Given the description of an element on the screen output the (x, y) to click on. 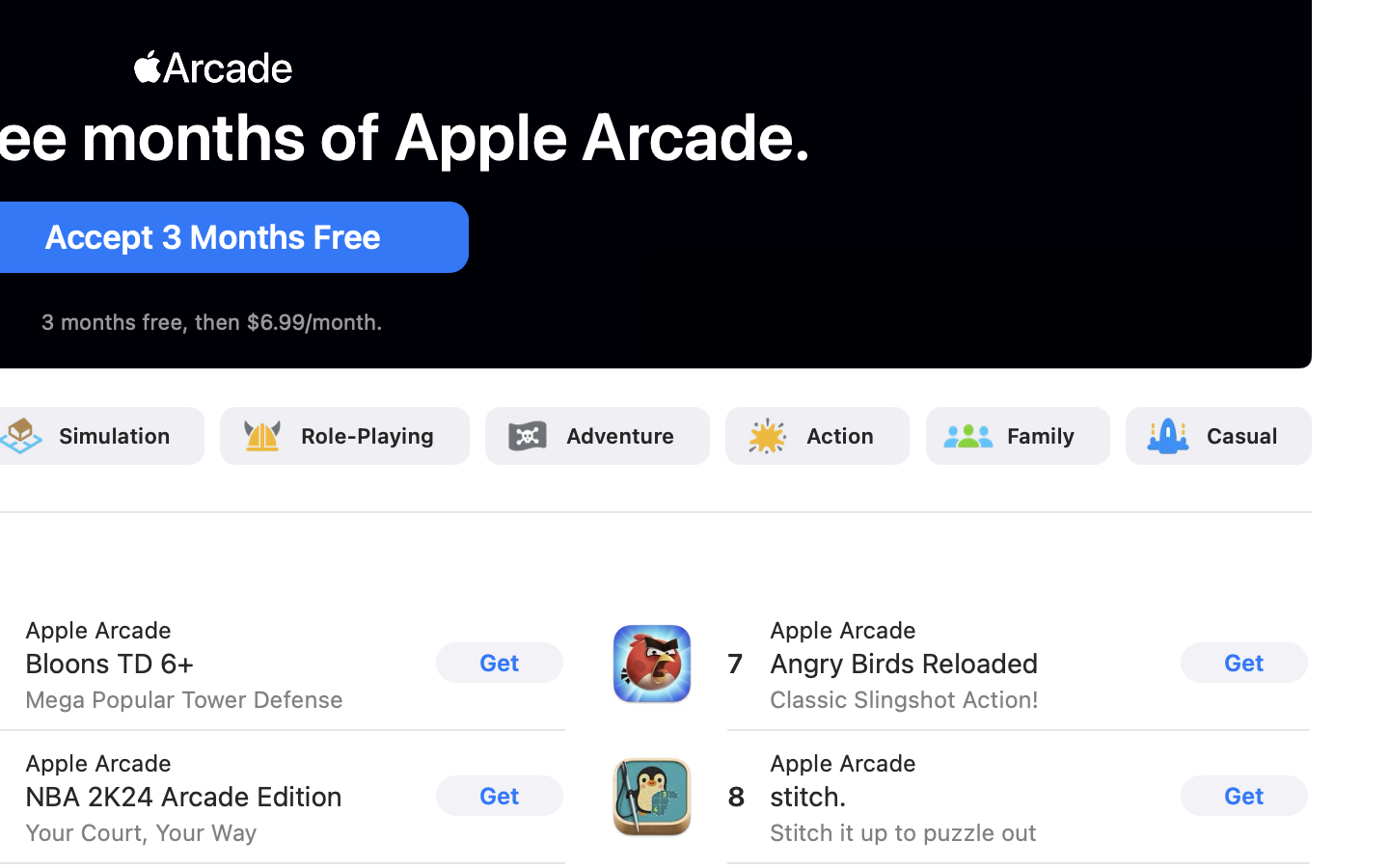
Role-Playing Element type: AXStaticText (368, 435)
3 months free, then $6.99/month. Element type: AXStaticText (211, 321)
Casual Element type: AXStaticText (1240, 435)
Action Element type: AXStaticText (840, 435)
Simulation Element type: AXStaticText (113, 435)
